Given the description of an element on the screen output the (x, y) to click on. 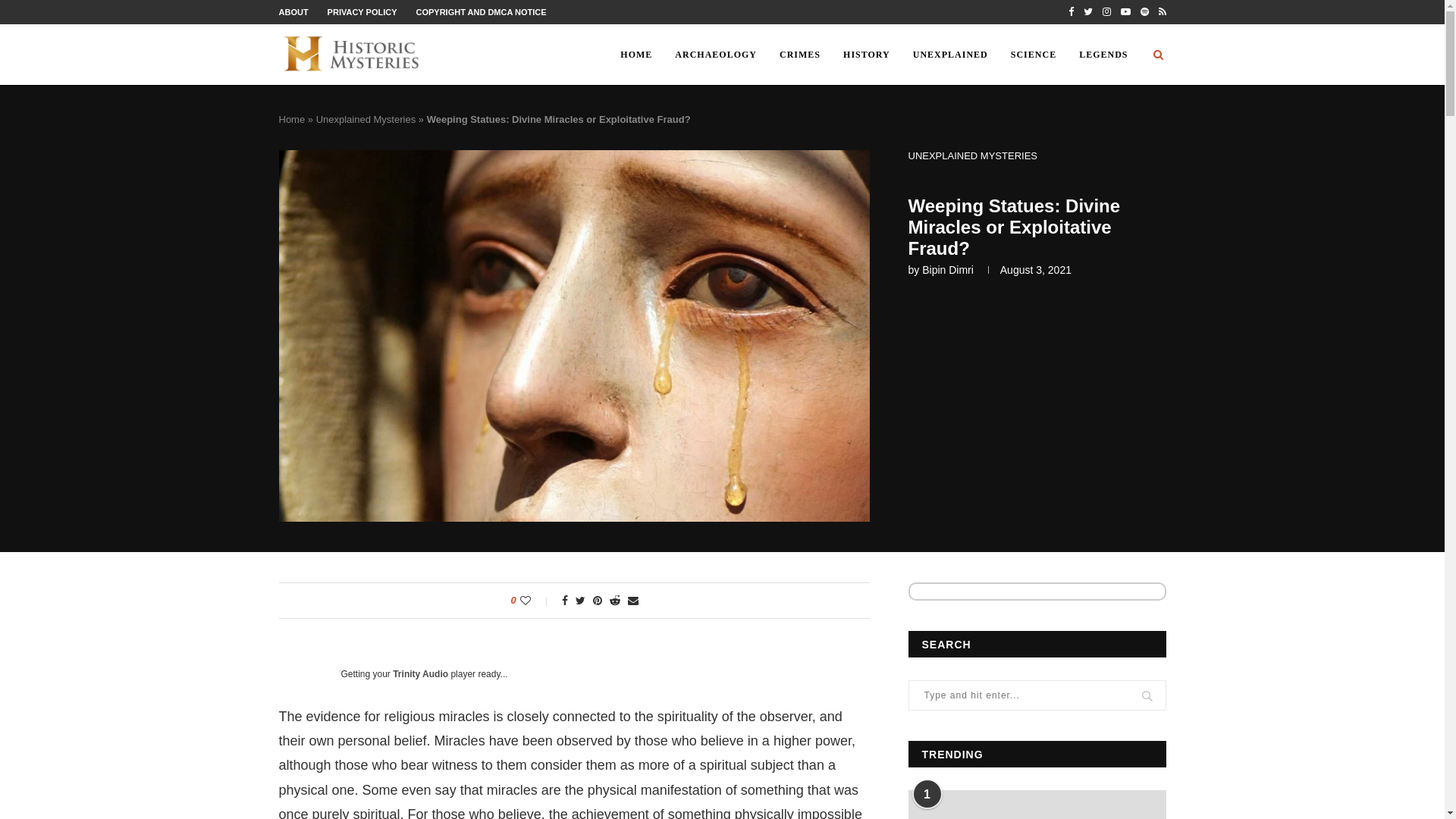
Bipin Dimri (947, 269)
UNEXPLAINED MYSTERIES (973, 155)
Unexplained Mysteries (365, 119)
ABOUT (293, 11)
ARCHAEOLOGY (715, 54)
SCIENCE (1032, 54)
HISTORY (866, 54)
Paranthropus: The Last of the Ape People (1037, 804)
Like (535, 600)
HOME (635, 54)
LEGENDS (1102, 54)
COPYRIGHT AND DMCA NOTICE (480, 11)
PRIVACY POLICY (362, 11)
UNEXPLAINED (949, 54)
CRIMES (799, 54)
